Given the description of an element on the screen output the (x, y) to click on. 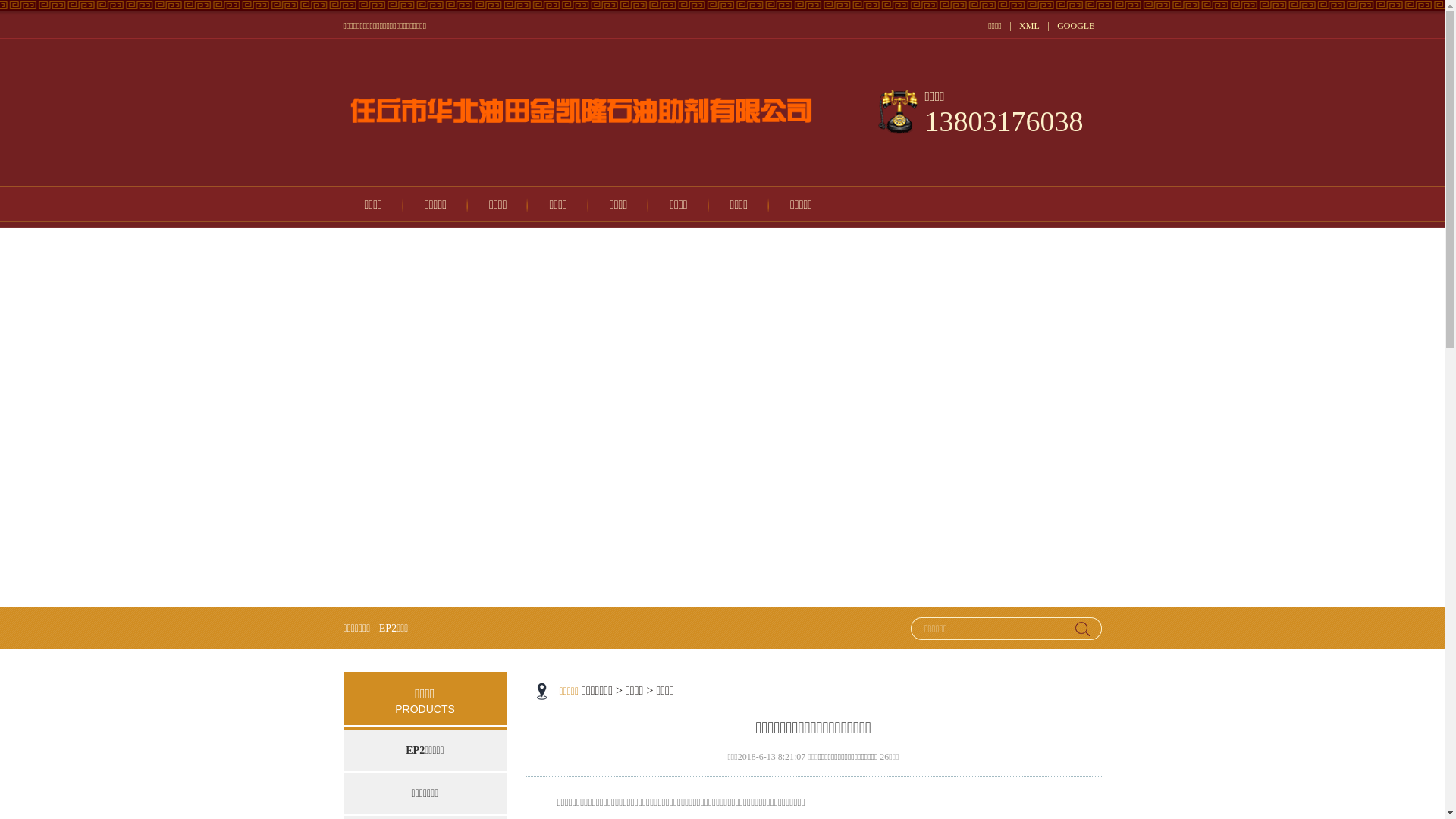
  Element type: text (1085, 628)
XML Element type: text (1029, 25)
GOOGLE Element type: text (1075, 25)
banner1  Element type: hover (722, 417)
